Given the description of an element on the screen output the (x, y) to click on. 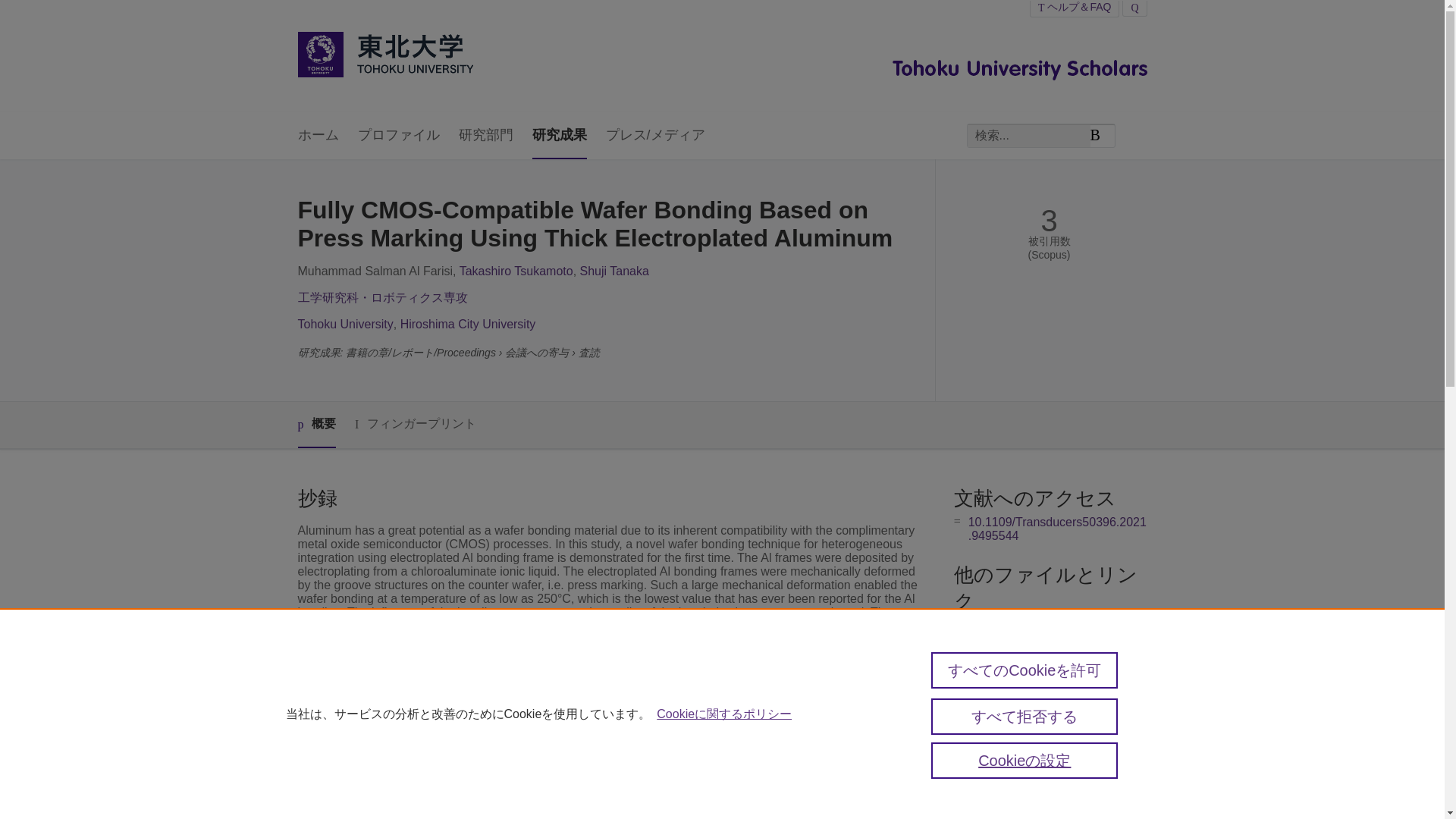
Takashiro Tsukamoto (516, 270)
Tohoku University (345, 323)
Hiroshima City University (467, 323)
Shuji Tanaka (614, 270)
Institute of Electrical and Electronics Engineers Inc. (643, 713)
